Given the description of an element on the screen output the (x, y) to click on. 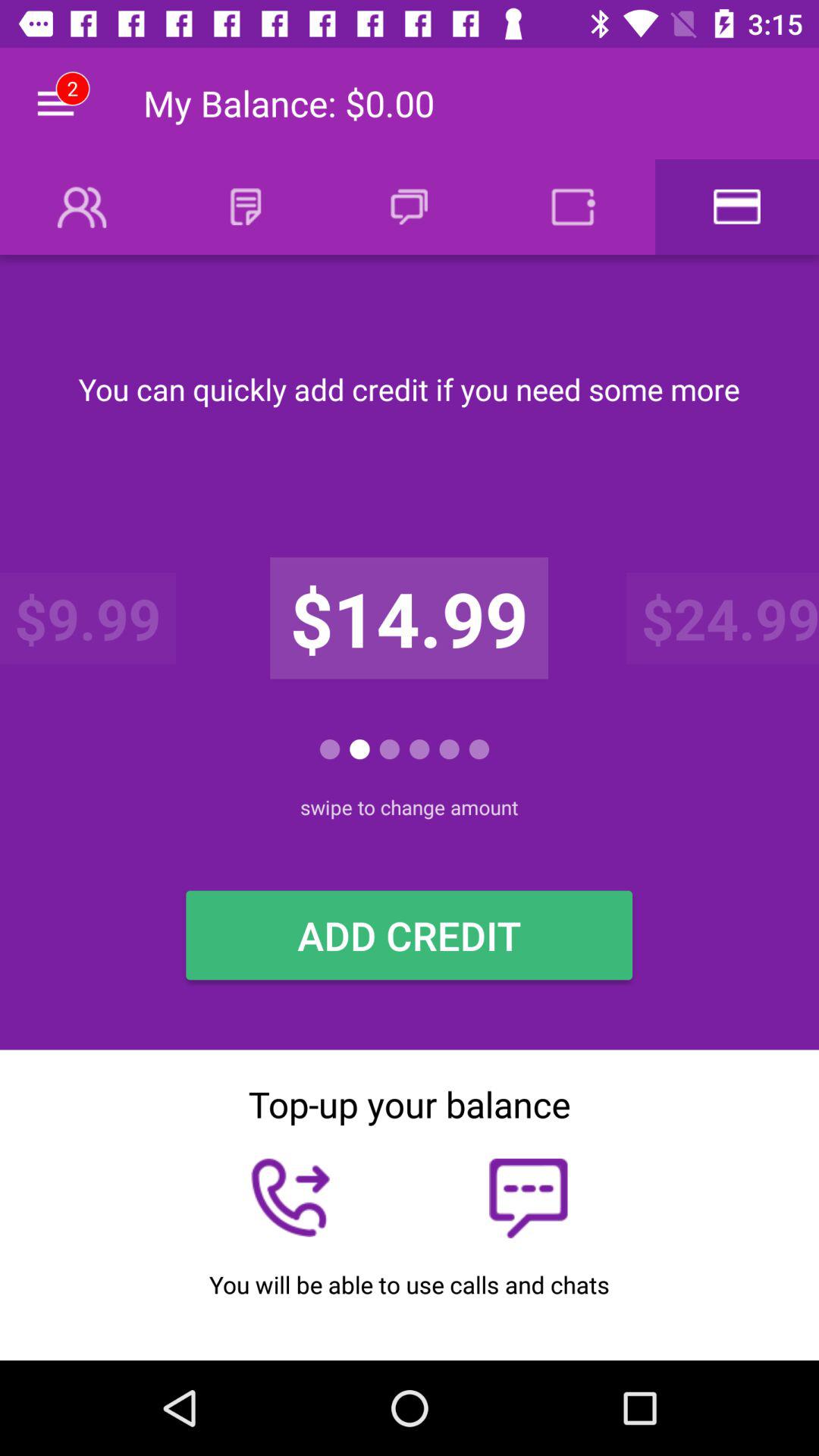
turn off icon to the left of the my balance 0 (55, 103)
